Given the description of an element on the screen output the (x, y) to click on. 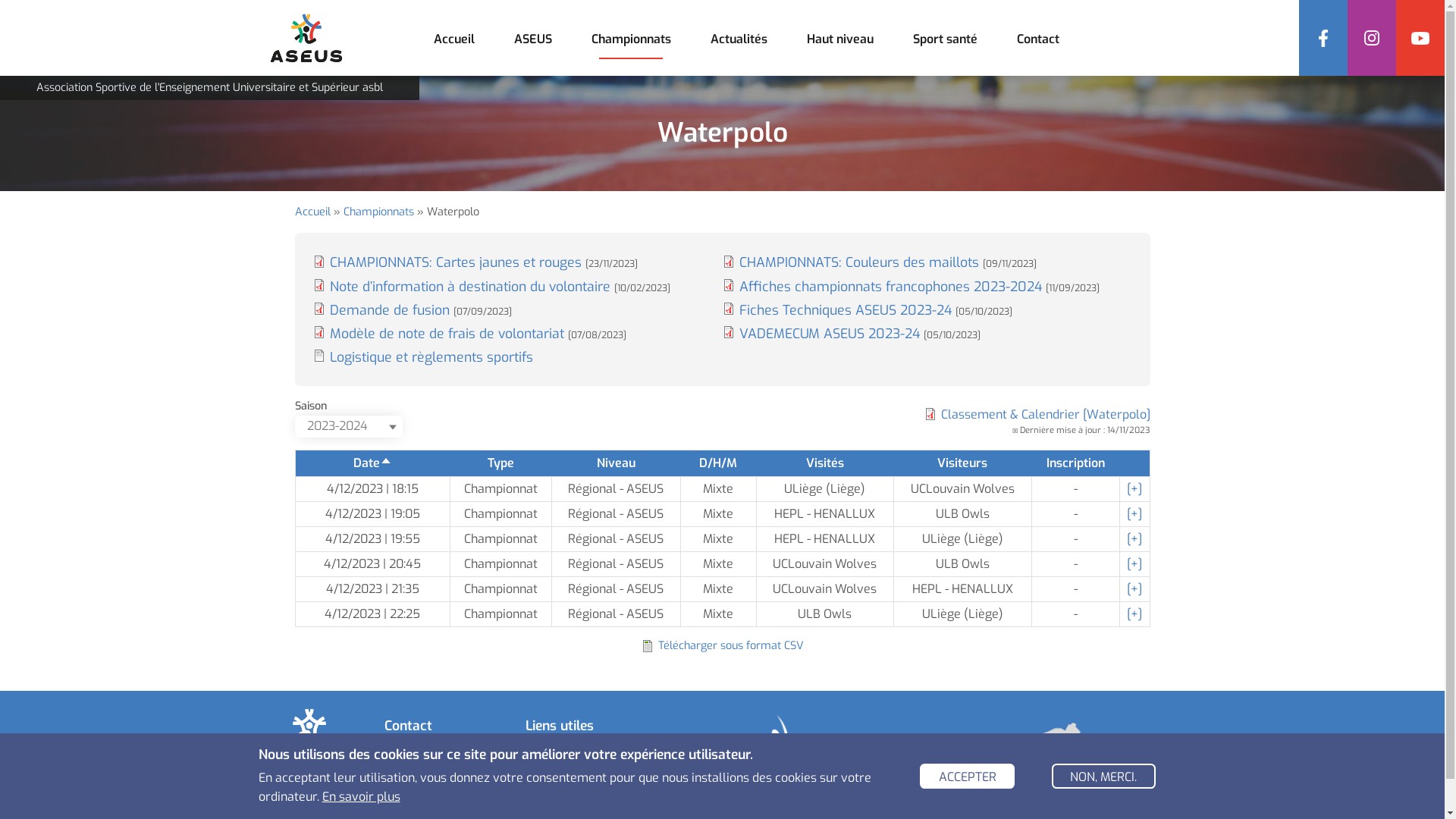
ACCEPTER Element type: text (966, 776)
Accueil Element type: text (311, 211)
Affiches championnats francophones 2023-2024 [11/09/2023] Element type: text (909, 286)
Type Element type: text (500, 462)
[+] Element type: text (1134, 488)
04/336.45.65 Element type: text (441, 747)
info@aseus.be Element type: text (419, 779)
[+] Element type: text (1134, 513)
[+] Element type: text (1134, 588)
CHAMPIONNATS: Couleurs des maillots [09/11/2023] Element type: text (878, 262)
Aller au contenu principal Element type: text (0, 75)
Espace volontariat Element type: text (571, 747)
[+] Element type: text (1134, 563)
04/336.66.83 Element type: text (444, 763)
Niveau Element type: text (615, 462)
Contact Element type: text (1036, 40)
[+] Element type: text (1134, 538)
Filtrer Element type: text (36, 10)
En savoir plus Element type: text (360, 796)
Classement & Calendrier [Waterpolo] Element type: text (1036, 414)
Fiches Techniques ASEUS 2023-24 [05/10/2023] Element type: text (866, 310)
NON, MERCI. Element type: text (1103, 776)
[+] Element type: text (1134, 613)
VADEMECUM ASEUS 2023-24 [05/10/2023] Element type: text (850, 333)
YouTube Element type: text (336, 783)
CHAMPIONNATS: Cartes jaunes et rouges [23/11/2023] Element type: text (474, 262)
Championnats Element type: text (377, 211)
YouTube Element type: text (1420, 37)
Instagram Element type: text (1371, 37)
D/H/M Element type: text (718, 462)
Instagram Element type: text (309, 783)
Accueil Element type: text (453, 40)
Facebook Element type: text (281, 783)
Demande de fusion [07/09/2023] Element type: text (411, 310)
Facebook Element type: text (1323, 37)
